Given the description of an element on the screen output the (x, y) to click on. 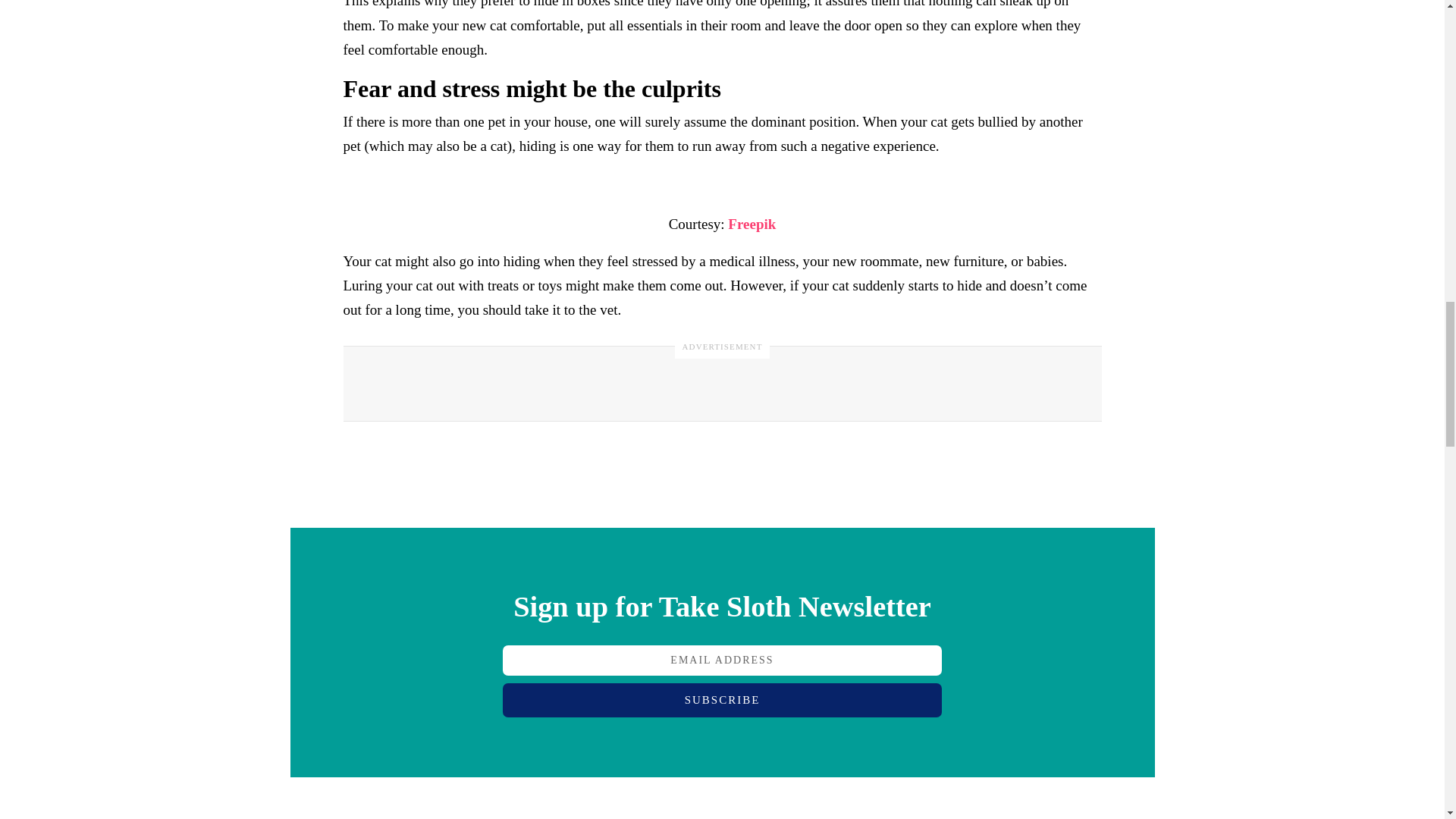
Freepik (752, 223)
SUBSCRIBE (722, 700)
